Given the description of an element on the screen output the (x, y) to click on. 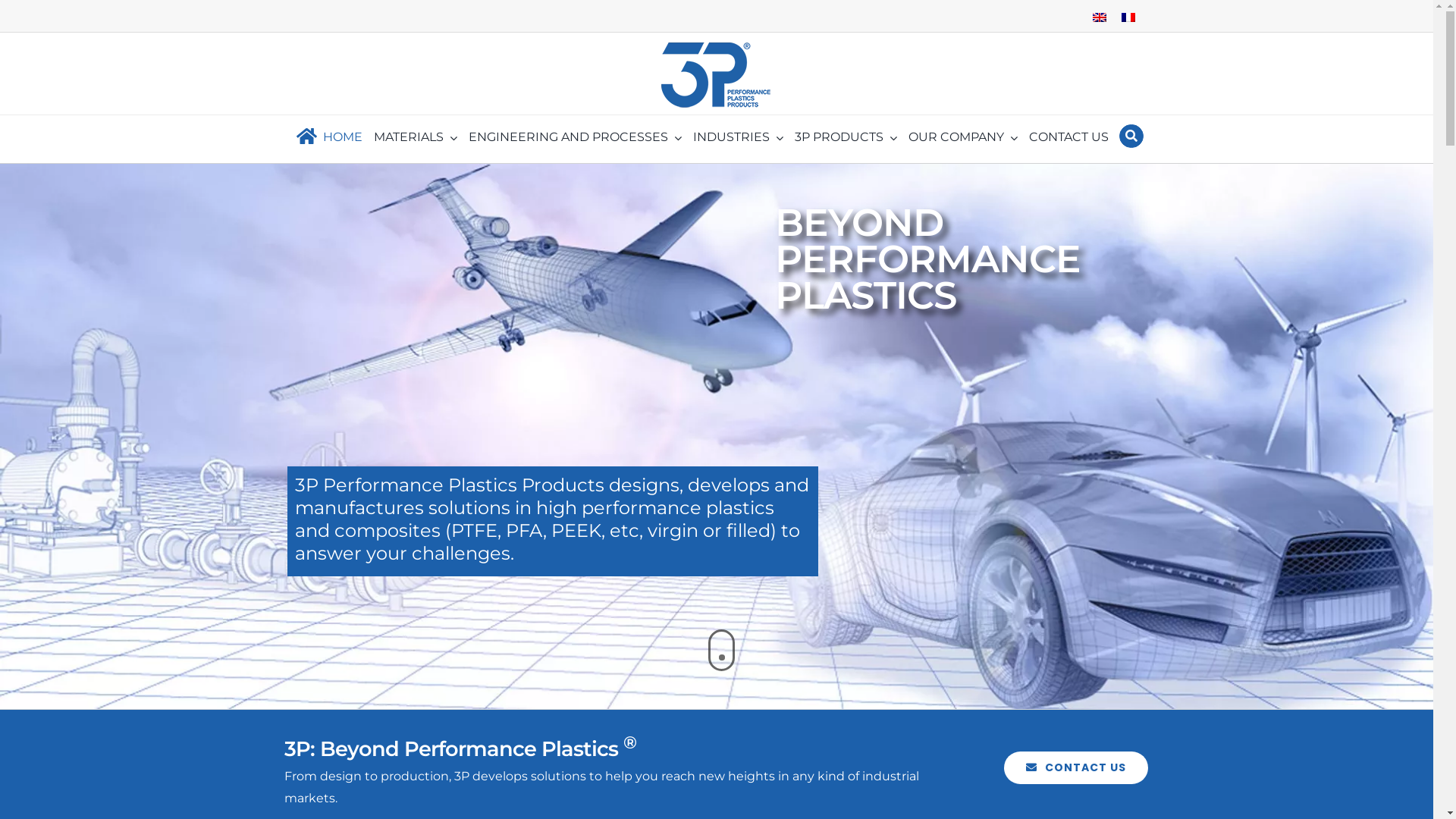
MATERIALS Element type: text (415, 137)
ENGINEERING AND PROCESSES Element type: text (574, 137)
INDUSTRIES Element type: text (738, 137)
CONTACT US Element type: text (1068, 137)
CONTACT US Element type: text (1076, 767)
OUR COMPANY Element type: text (962, 137)
3P PRODUCTS Element type: text (845, 137)
HOME Element type: text (326, 137)
